Given the description of an element on the screen output the (x, y) to click on. 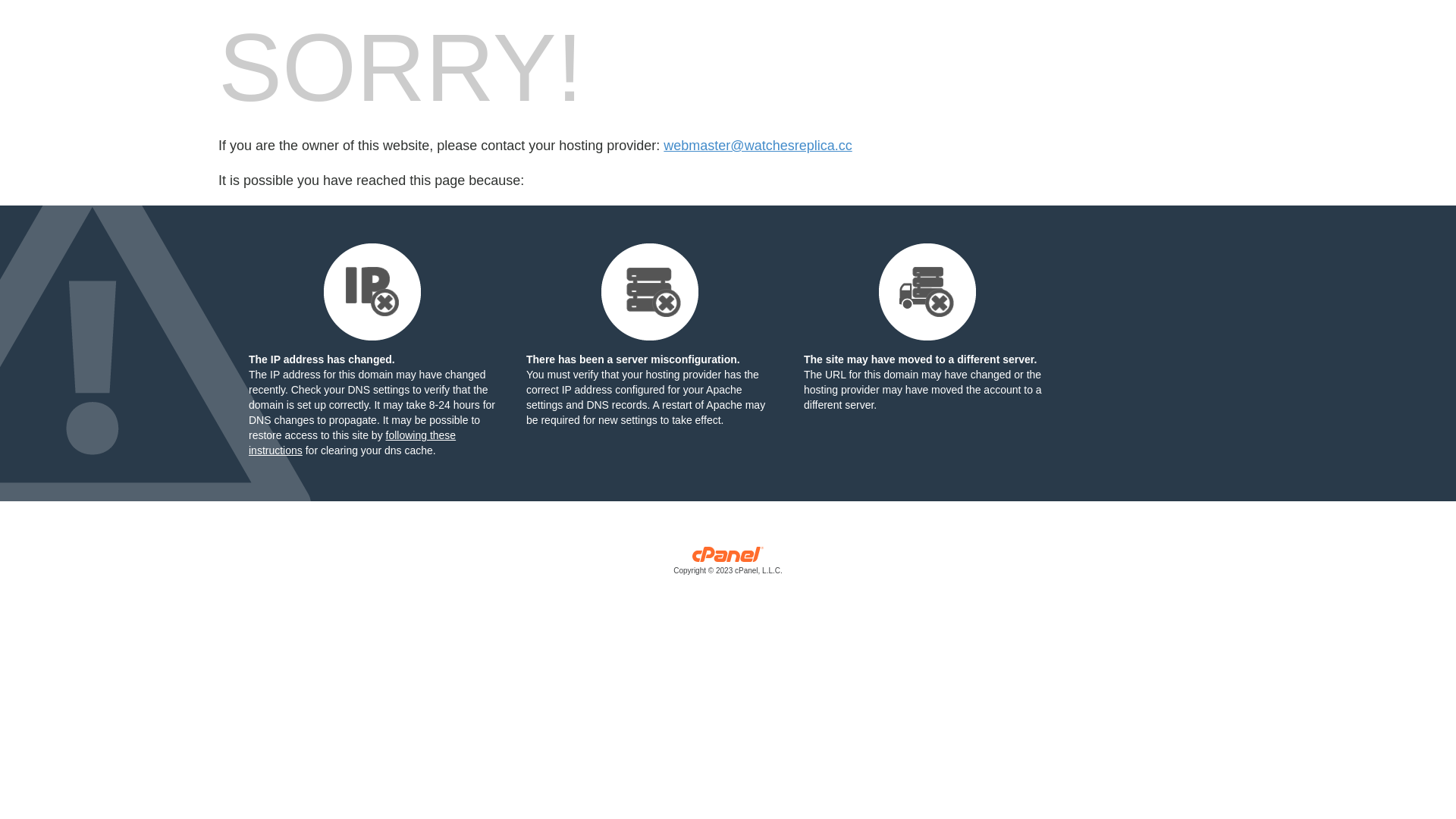
following these instructions Element type: text (351, 442)
webmaster@watchesreplica.cc Element type: text (757, 145)
